Given the description of an element on the screen output the (x, y) to click on. 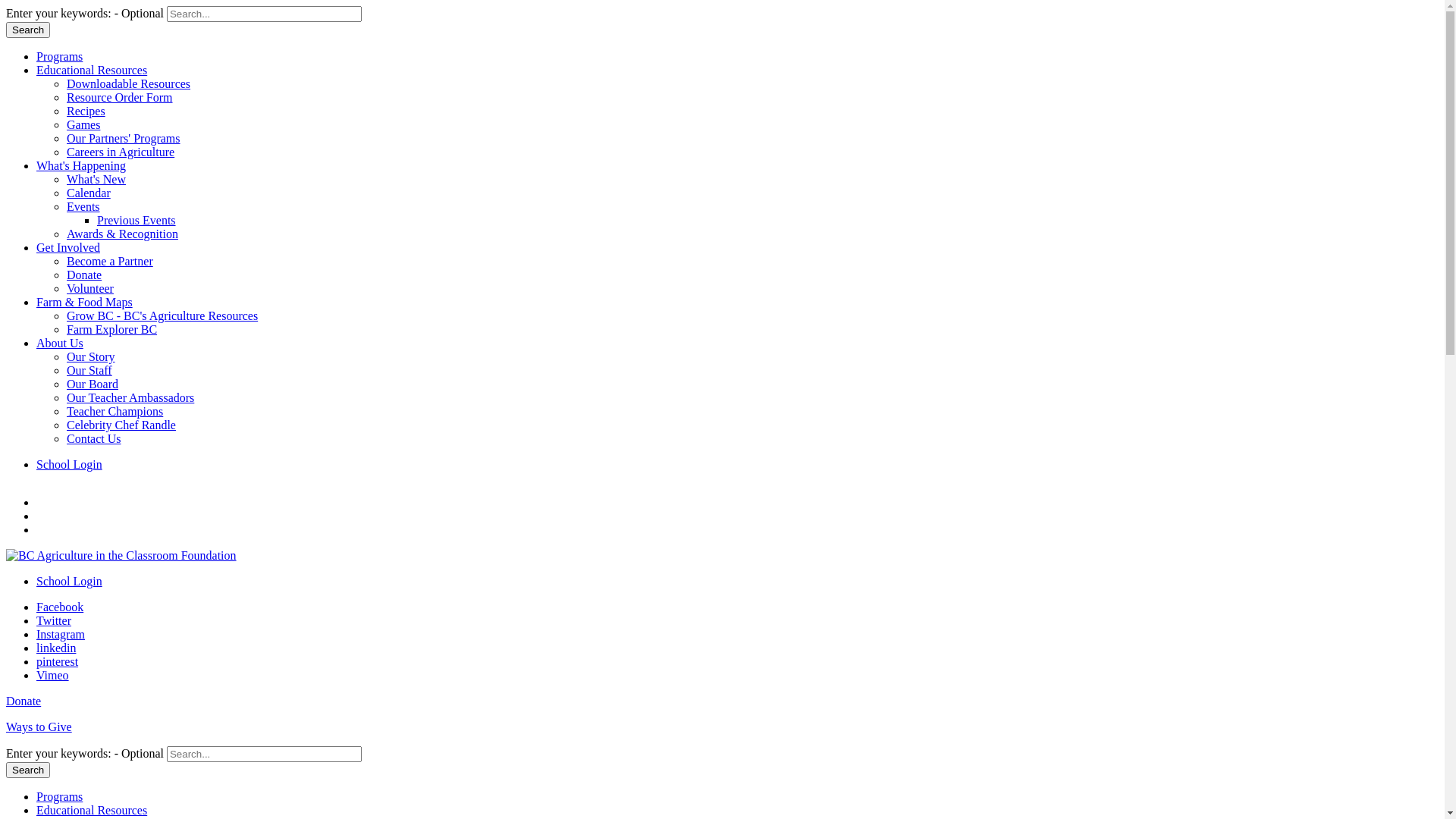
Contact Us Element type: text (93, 438)
Careers in Agriculture Element type: text (120, 151)
Search Element type: text (28, 770)
Volunteer Element type: text (89, 288)
pinterest Element type: text (57, 661)
Downloadable Resources Element type: text (128, 83)
What's New Element type: text (95, 178)
Previous Events Element type: text (136, 219)
linkedin Element type: text (55, 647)
Skip to main content Element type: text (6, 6)
Our Partners' Programs Element type: text (123, 137)
Facebook Element type: text (59, 606)
Programs Element type: text (59, 56)
Become a Partner Element type: text (109, 260)
Farm Explorer BC Element type: text (111, 329)
Search Element type: text (28, 29)
Games Element type: text (83, 124)
Donate Element type: text (83, 274)
Vimeo Element type: text (52, 674)
Farm & Food Maps Element type: text (84, 301)
Our Story Element type: text (90, 356)
Celebrity Chef Randle Element type: text (120, 424)
Resource Order Form Element type: text (119, 97)
Events Element type: text (83, 206)
Our Teacher Ambassadors Element type: text (130, 397)
Educational Resources Element type: text (91, 69)
Twitter Element type: text (53, 620)
Educational Resources Element type: text (91, 809)
School Login Element type: text (69, 580)
Get Involved Element type: text (68, 247)
Our Board Element type: text (92, 383)
Donate
Ways to Give Element type: text (722, 720)
Programs Element type: text (59, 796)
School Login Element type: text (69, 464)
Instagram Element type: text (60, 633)
Our Staff Element type: text (89, 370)
Recipes Element type: text (85, 110)
What's Happening Element type: text (80, 165)
Grow BC - BC's Agriculture Resources Element type: text (161, 315)
About Us Element type: text (59, 342)
Awards & Recognition Element type: text (122, 233)
Calendar Element type: text (88, 192)
Teacher Champions Element type: text (114, 410)
